Given the description of an element on the screen output the (x, y) to click on. 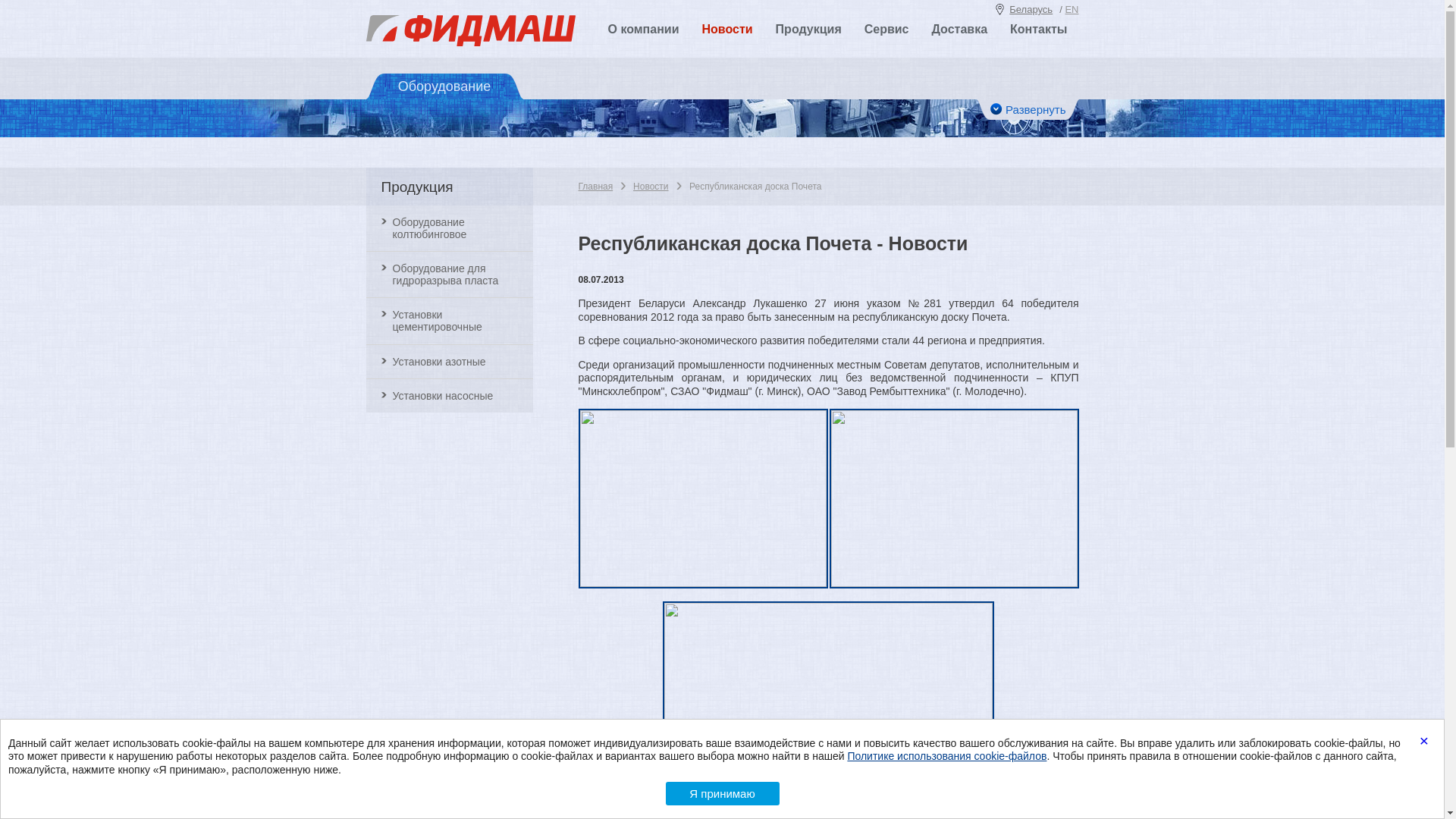
EN Element type: text (1071, 9)
Fidmash Element type: hover (469, 43)
